Given the description of an element on the screen output the (x, y) to click on. 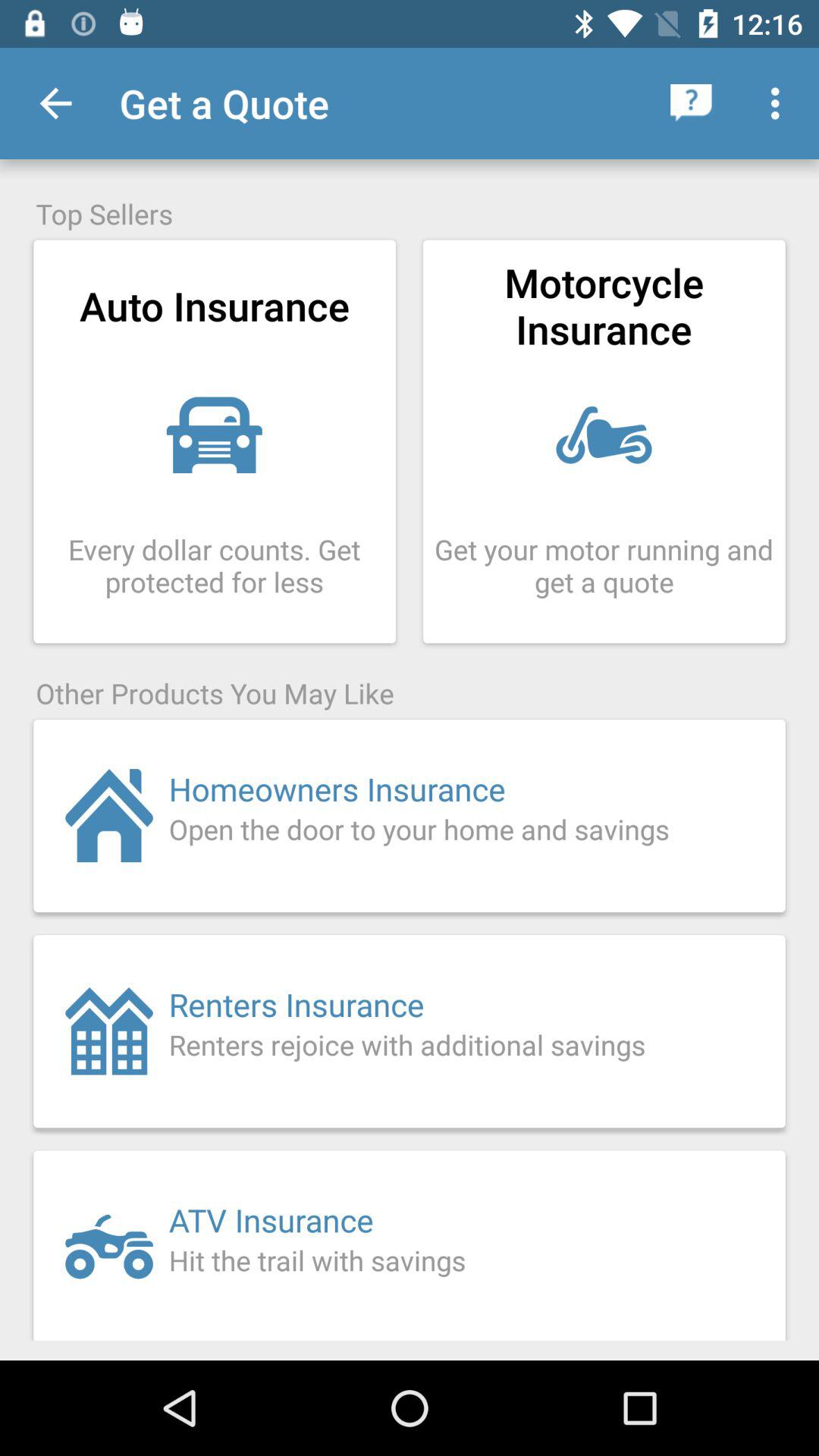
turn on the item above top sellers item (691, 103)
